Given the description of an element on the screen output the (x, y) to click on. 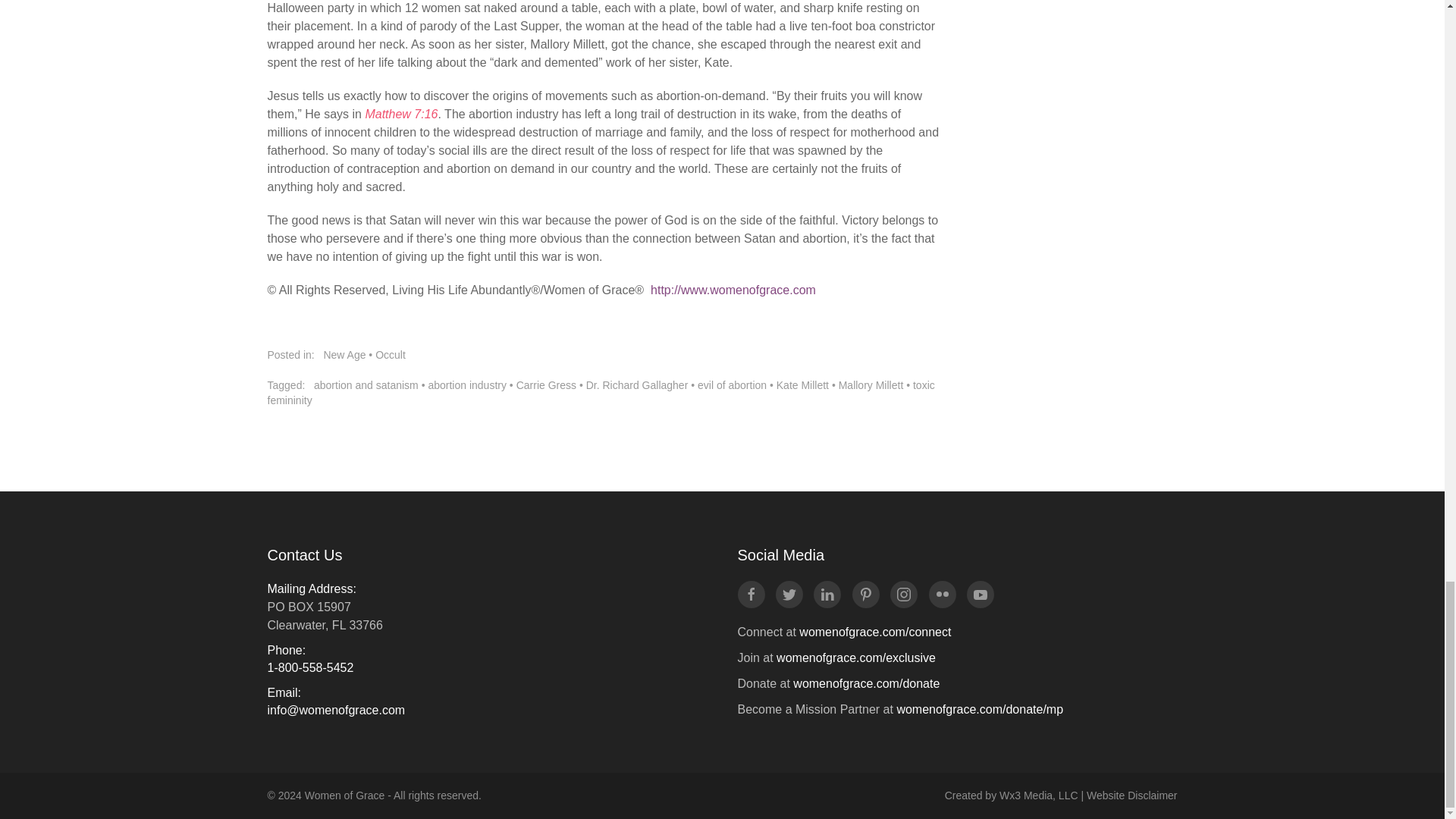
abortion and satanism (366, 385)
abortion industry (467, 385)
Dr. Richard Gallagher (637, 385)
Carrie Gress (546, 385)
Occult (390, 354)
New Age (344, 354)
evil of abortion (732, 385)
